Given the description of an element on the screen output the (x, y) to click on. 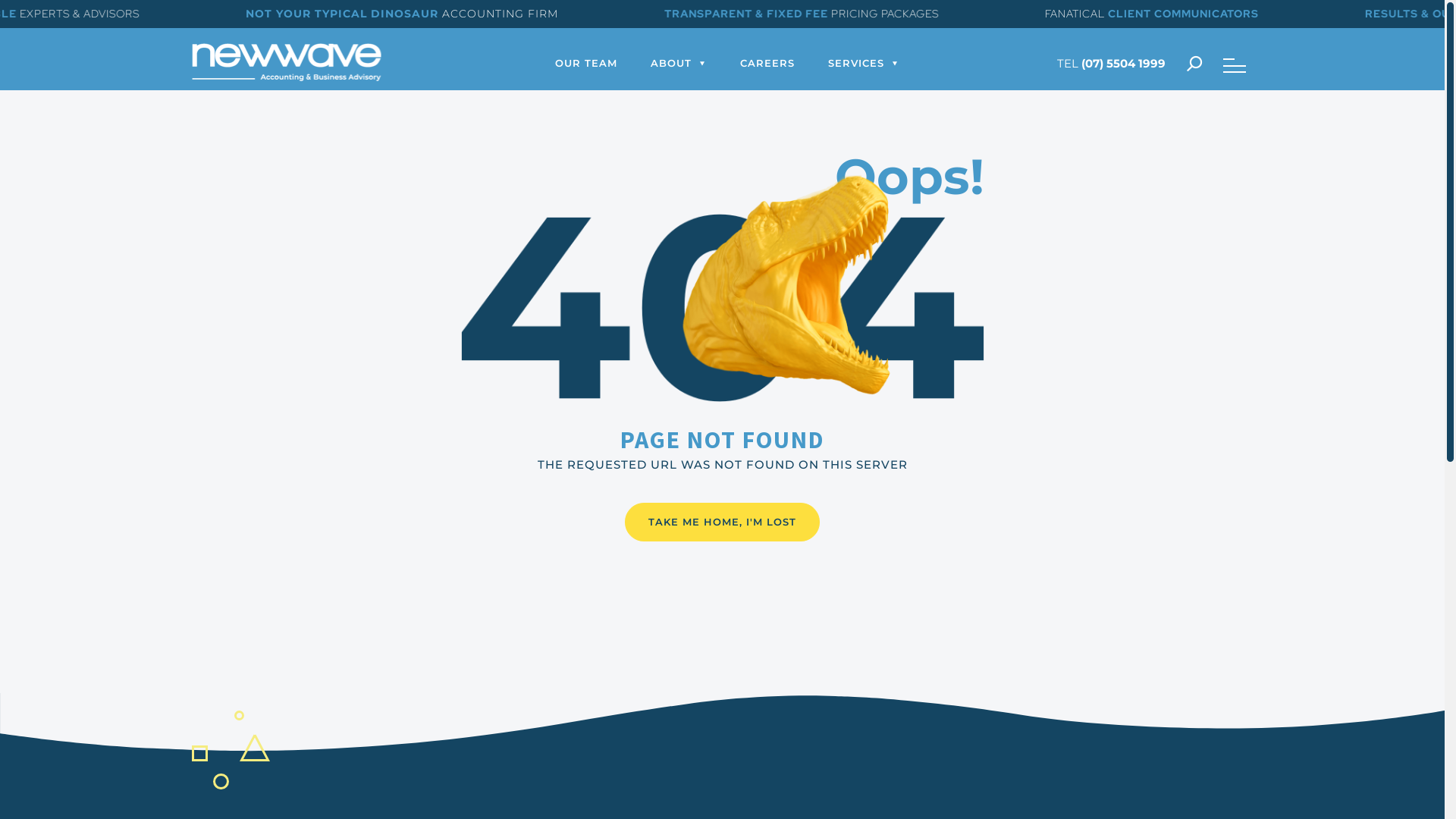
TAKE ME HOME, I'M LOST Element type: text (721, 521)
New Wave Accounting Element type: hover (285, 76)
TEL (07) 5504 1999 Element type: text (1111, 63)
SERVICES Element type: text (856, 63)
OUR TEAM Element type: text (586, 63)
ABOUT Element type: text (670, 63)
CAREERS Element type: text (767, 63)
